Given the description of an element on the screen output the (x, y) to click on. 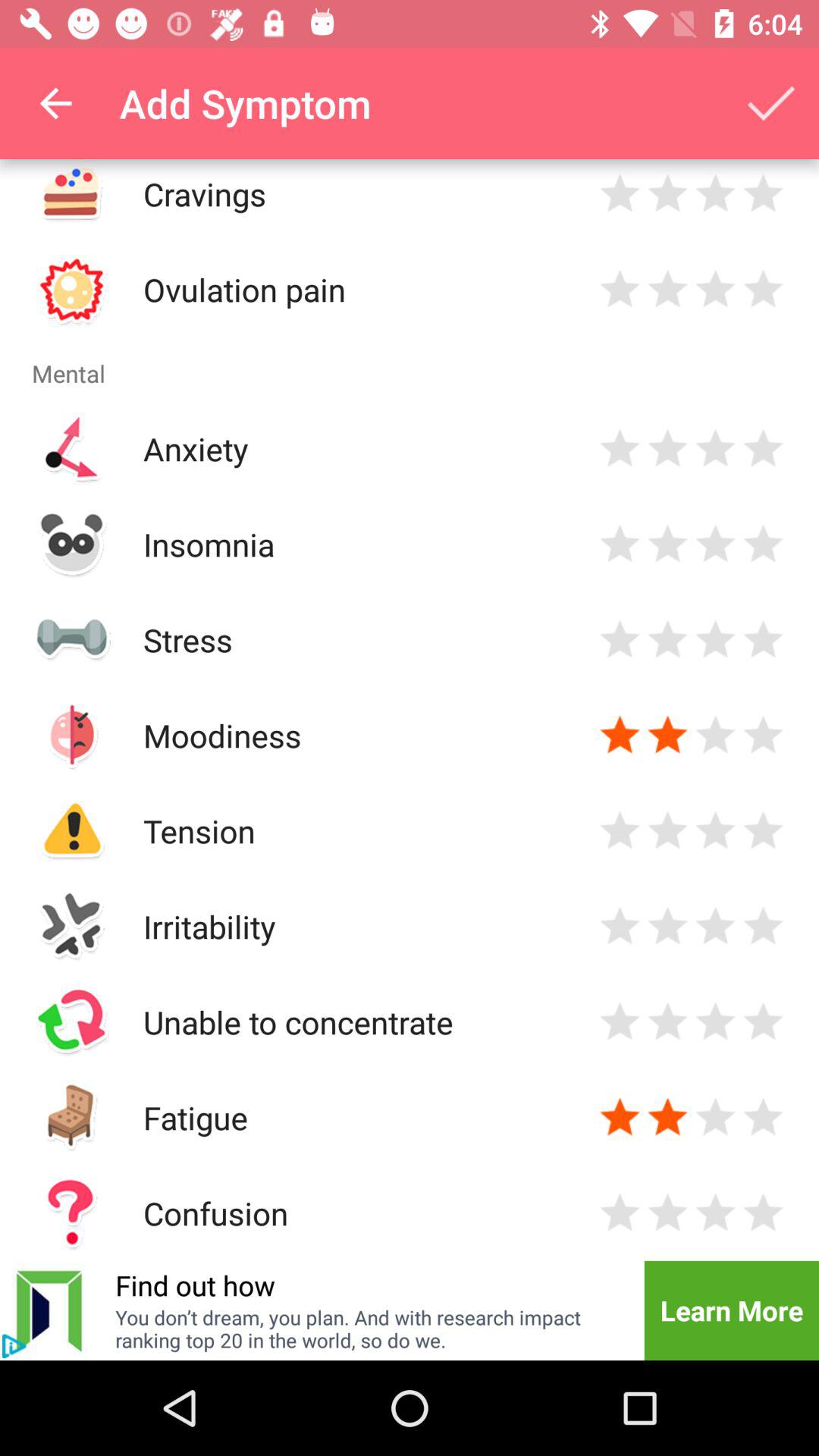
click the star (715, 1117)
